Given the description of an element on the screen output the (x, y) to click on. 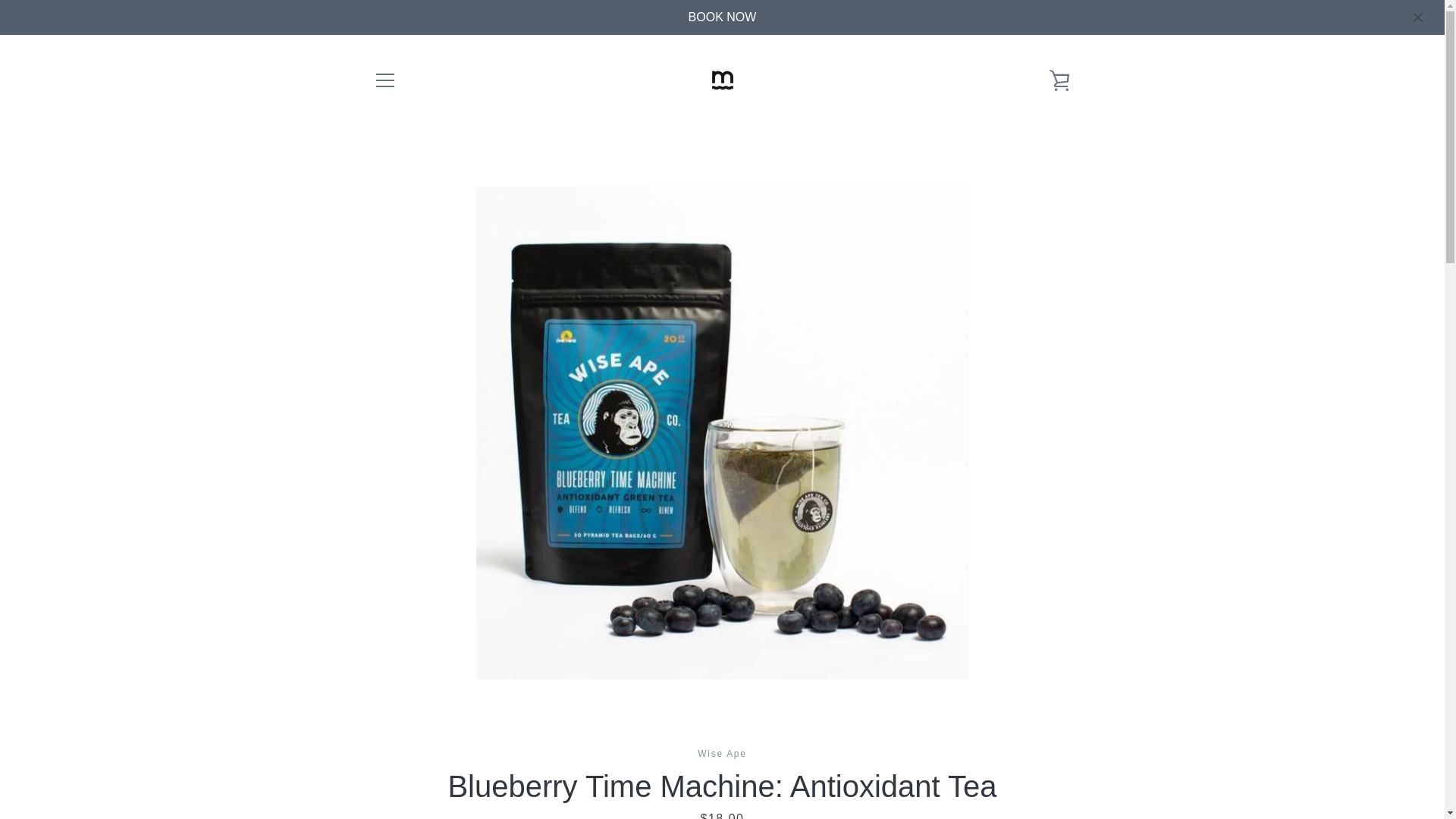
Mastercard (988, 778)
Apple Pay (918, 755)
American Express (883, 755)
mindful waters on Instagram (424, 765)
mindful waters on Twitter (399, 765)
VIEW CART (1059, 80)
mindful waters on Snapchat (452, 765)
Meta Pay (1022, 755)
Google Pay (1057, 755)
Visa (1057, 778)
Discover (988, 755)
mindful waters on Facebook (372, 765)
Shop Pay (1022, 778)
Diners Club (953, 755)
